Given the description of an element on the screen output the (x, y) to click on. 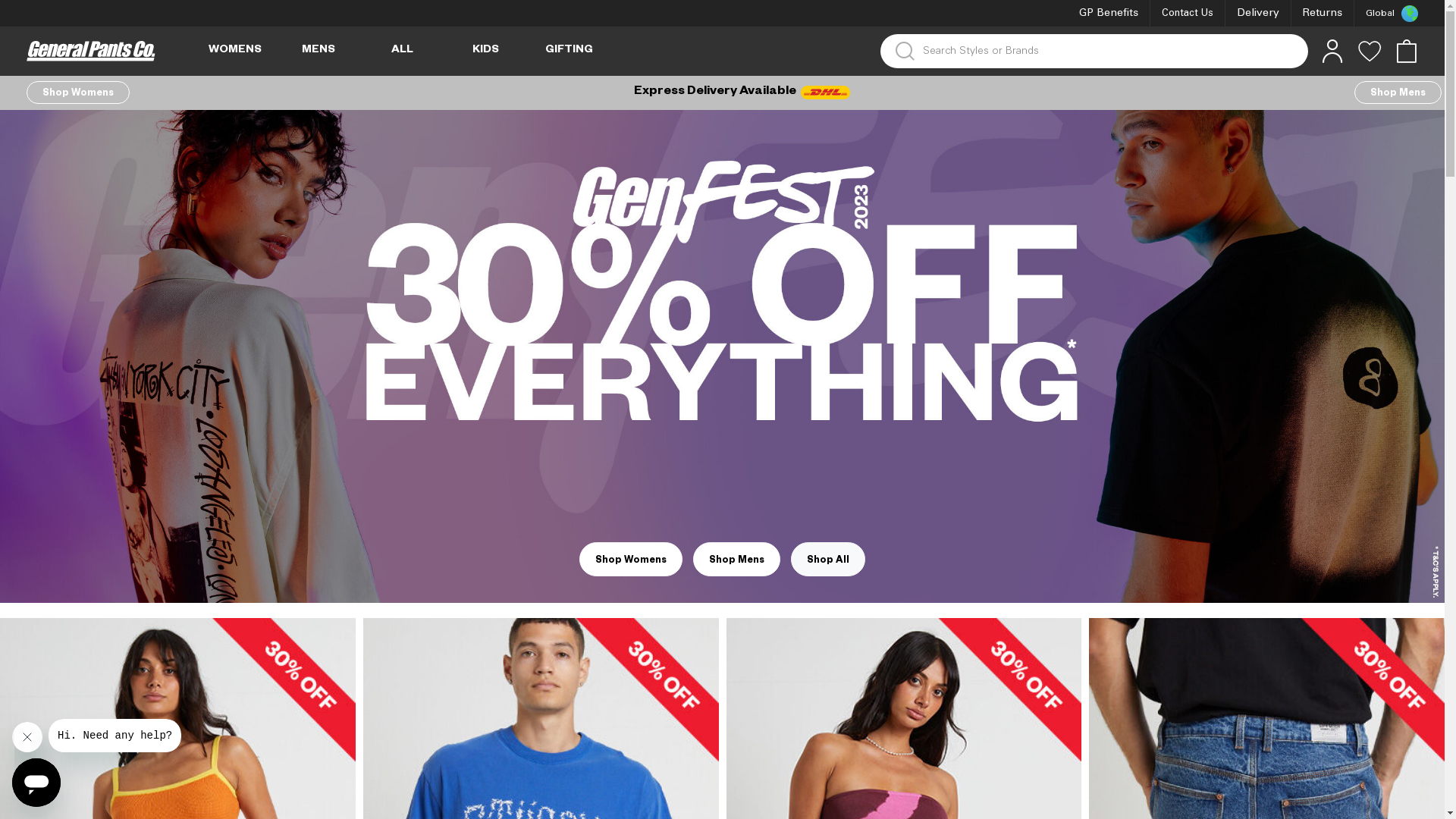
KIDS Element type: text (485, 50)
GIFTING Element type: text (568, 50)
Shop Womens Element type: text (630, 559)
Shop Mens Element type: text (1397, 92)
Returns Element type: text (1322, 13)
ALL Element type: text (401, 50)
Contact Us Element type: text (1187, 13)
MENS Element type: text (318, 50)
Submit Element type: text (24, 9)
Cart 0 Items Element type: hover (1406, 58)
Message from company Element type: hover (114, 735)
Global Element type: text (1386, 13)
Button to launch messaging window Element type: hover (36, 782)
GP Benefits Element type: text (1108, 13)
Close message Element type: hover (27, 736)
Delivery Element type: text (1257, 13)
Shop All Element type: text (827, 559)
Shop Womens Element type: text (77, 92)
WOMENS Element type: text (234, 50)
Shop Mens Element type: text (736, 559)
General Pants Home Element type: hover (90, 50)
